Given the description of an element on the screen output the (x, y) to click on. 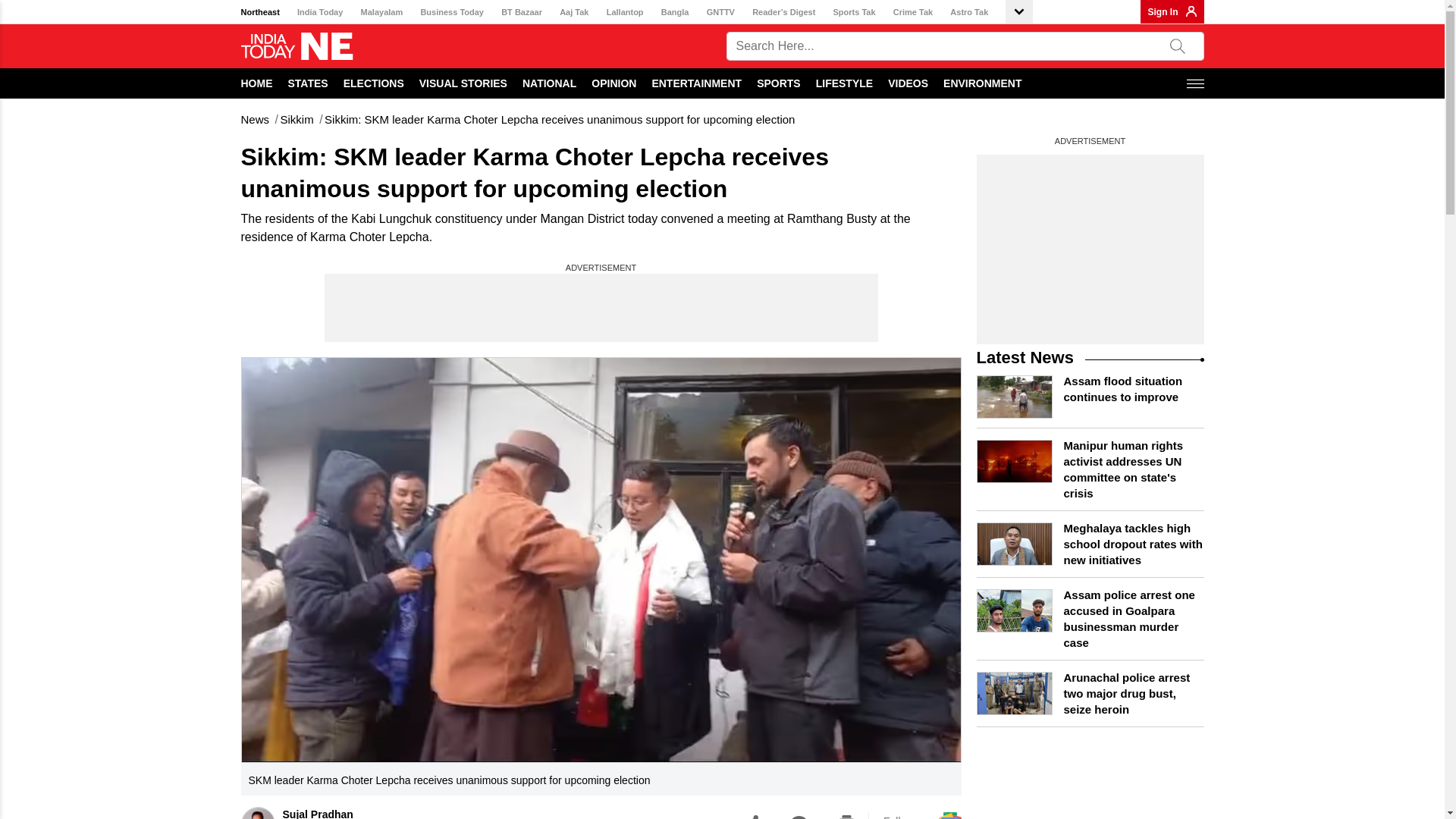
Astro Tak (969, 12)
BT Bazaar (520, 12)
Sign In (1162, 11)
BT Bazaar (520, 12)
Bangla (674, 12)
GNTTV (720, 12)
Crime Tak (913, 12)
India Today (319, 12)
STATES (308, 82)
Aaj Tak (573, 12)
Lallantop (625, 12)
NATIONAL (549, 82)
Bangla (674, 12)
ELECTIONS (373, 82)
Astro Tak (969, 12)
